Given the description of an element on the screen output the (x, y) to click on. 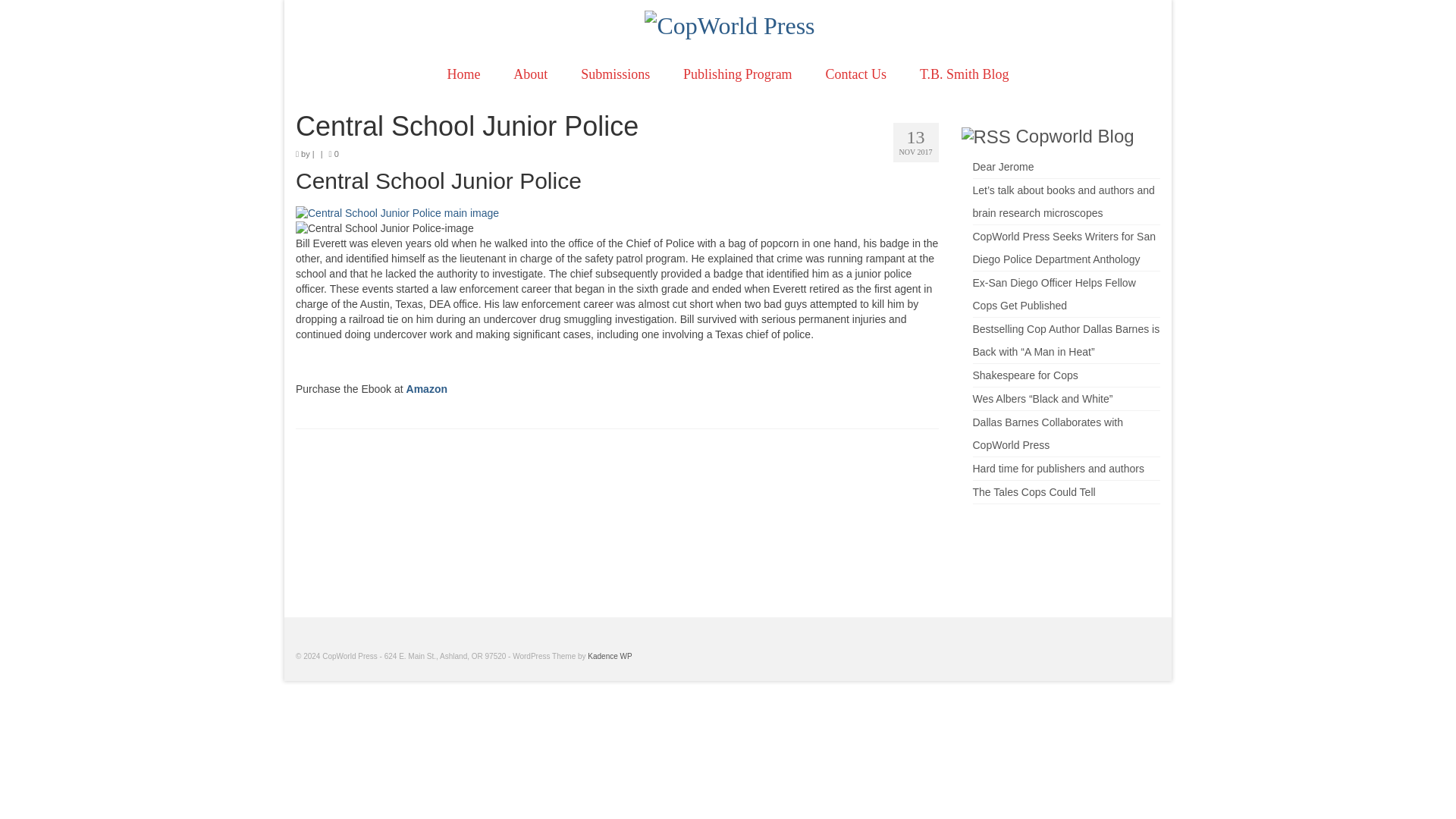
The Tales Cops Could Tell (1033, 491)
Shakespeare for Cops (1024, 374)
Dallas Barnes Collaborates with CopWorld Press (1047, 432)
Ex-San Diego Officer Helps Fellow Cops Get Published (1053, 293)
Amazon (426, 388)
Kadence WP (609, 655)
Hard time for publishers and authors (1057, 468)
Copworld Blog (1075, 136)
Home (462, 73)
Dear Jerome (1002, 166)
About (529, 73)
Contact Us (856, 73)
Publishing Program (738, 73)
T.B. Smith Blog (964, 73)
